Given the description of an element on the screen output the (x, y) to click on. 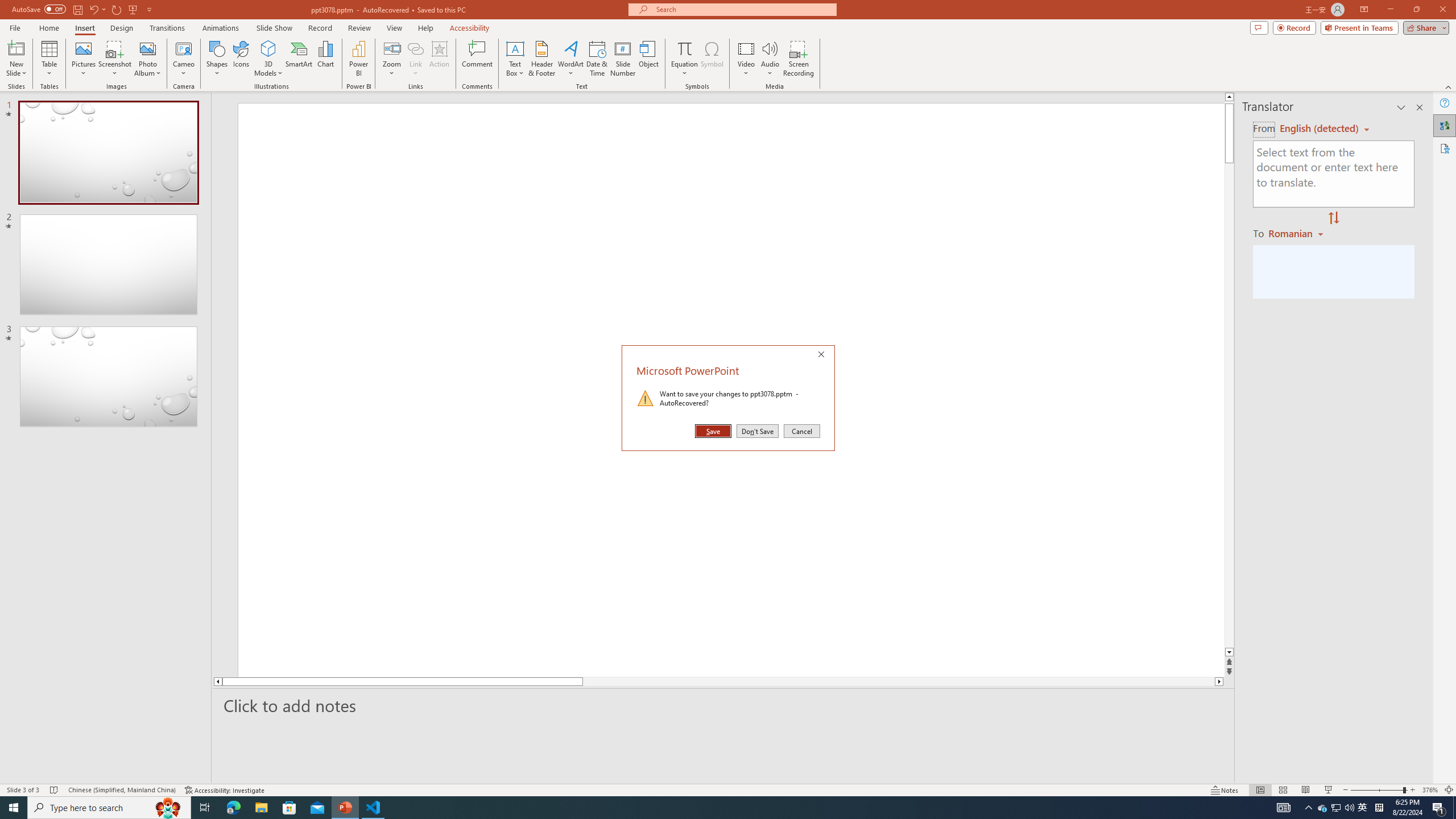
WordArt (570, 58)
